Given the description of an element on the screen output the (x, y) to click on. 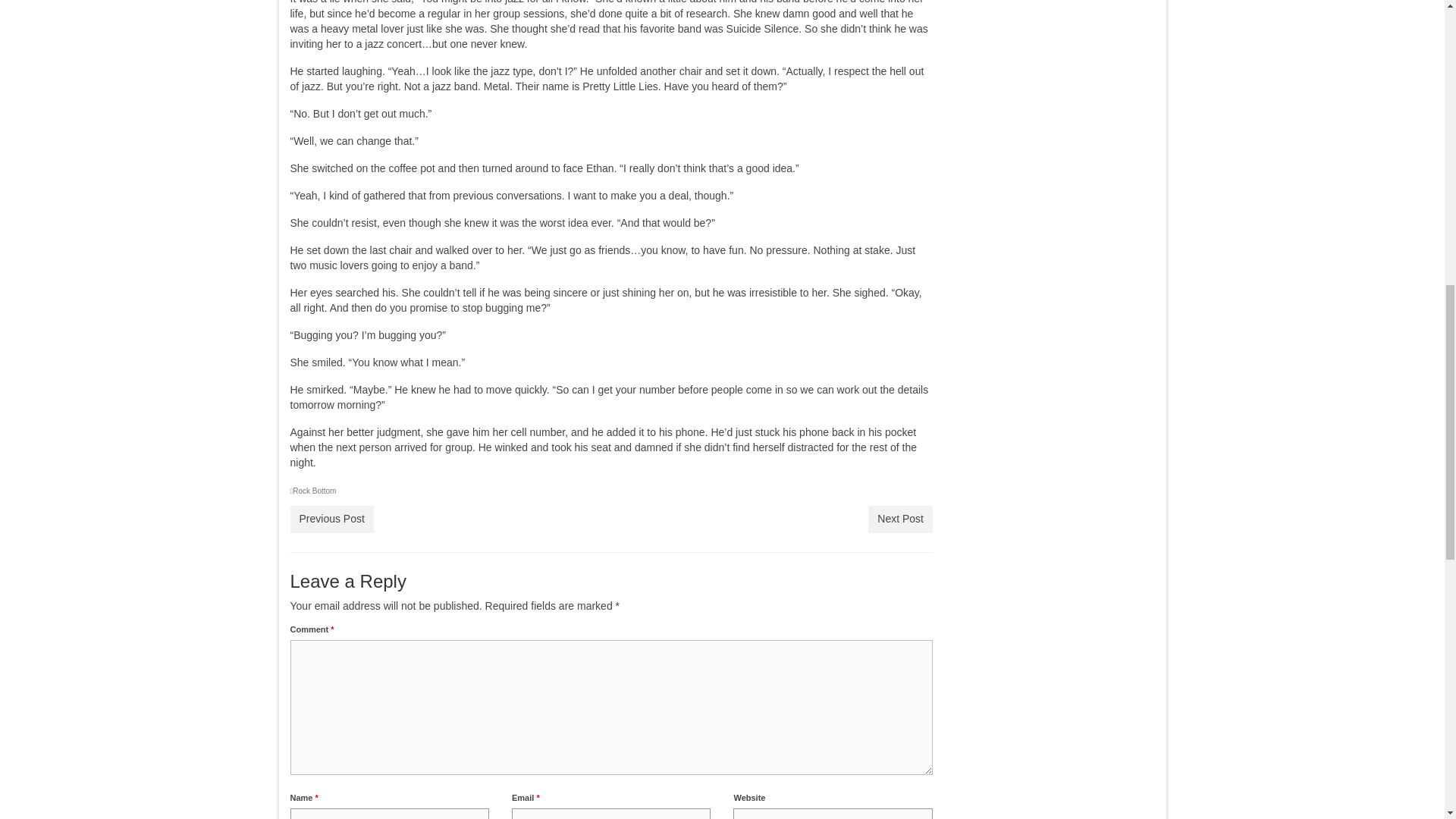
Next Post (900, 519)
Previous Post (330, 519)
Rock Bottom (314, 490)
